Given the description of an element on the screen output the (x, y) to click on. 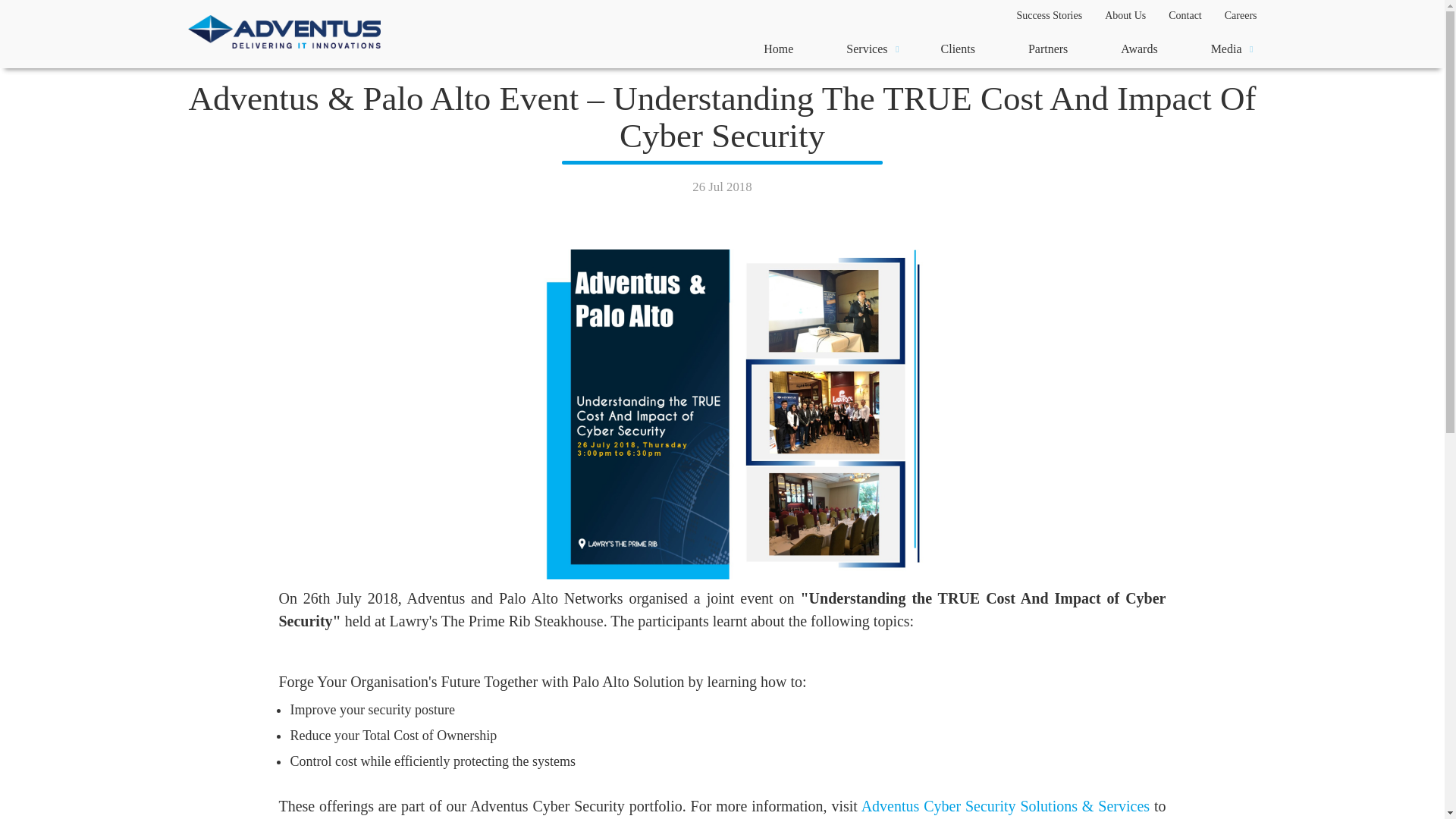
Contact (1184, 15)
Media (1226, 48)
Home (778, 48)
Home (778, 48)
Services (866, 48)
Success Stories (1048, 15)
Services (866, 48)
Partners (1047, 48)
Awards (1139, 48)
About Us (1125, 15)
